Given the description of an element on the screen output the (x, y) to click on. 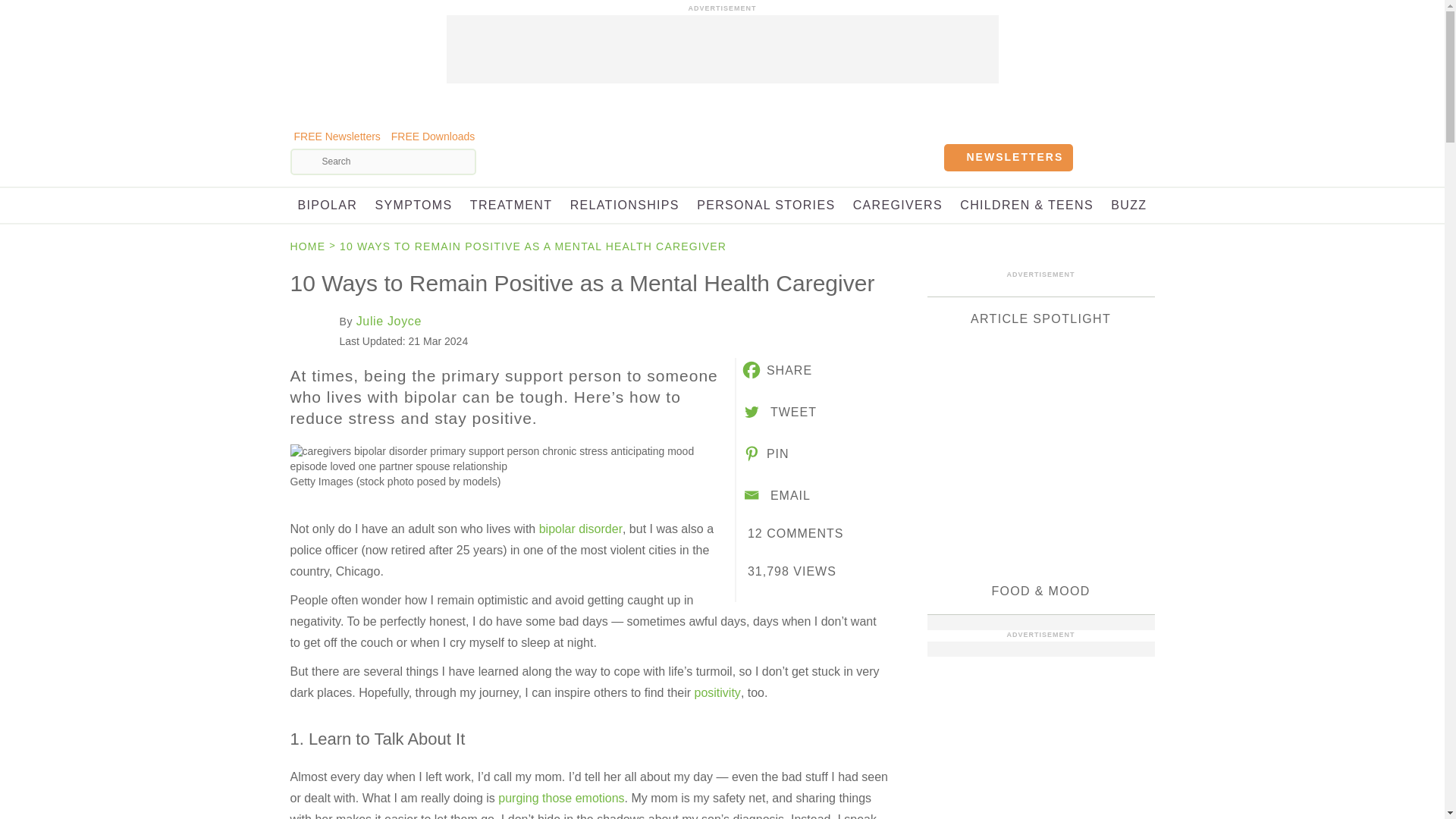
Email (774, 495)
BIPOLAR (326, 205)
SYMPTOMS (413, 205)
TREATMENT (511, 205)
Facebook (775, 369)
Pinterest (764, 453)
Twitter (777, 411)
RELATIONSHIPS (624, 205)
